Given the description of an element on the screen output the (x, y) to click on. 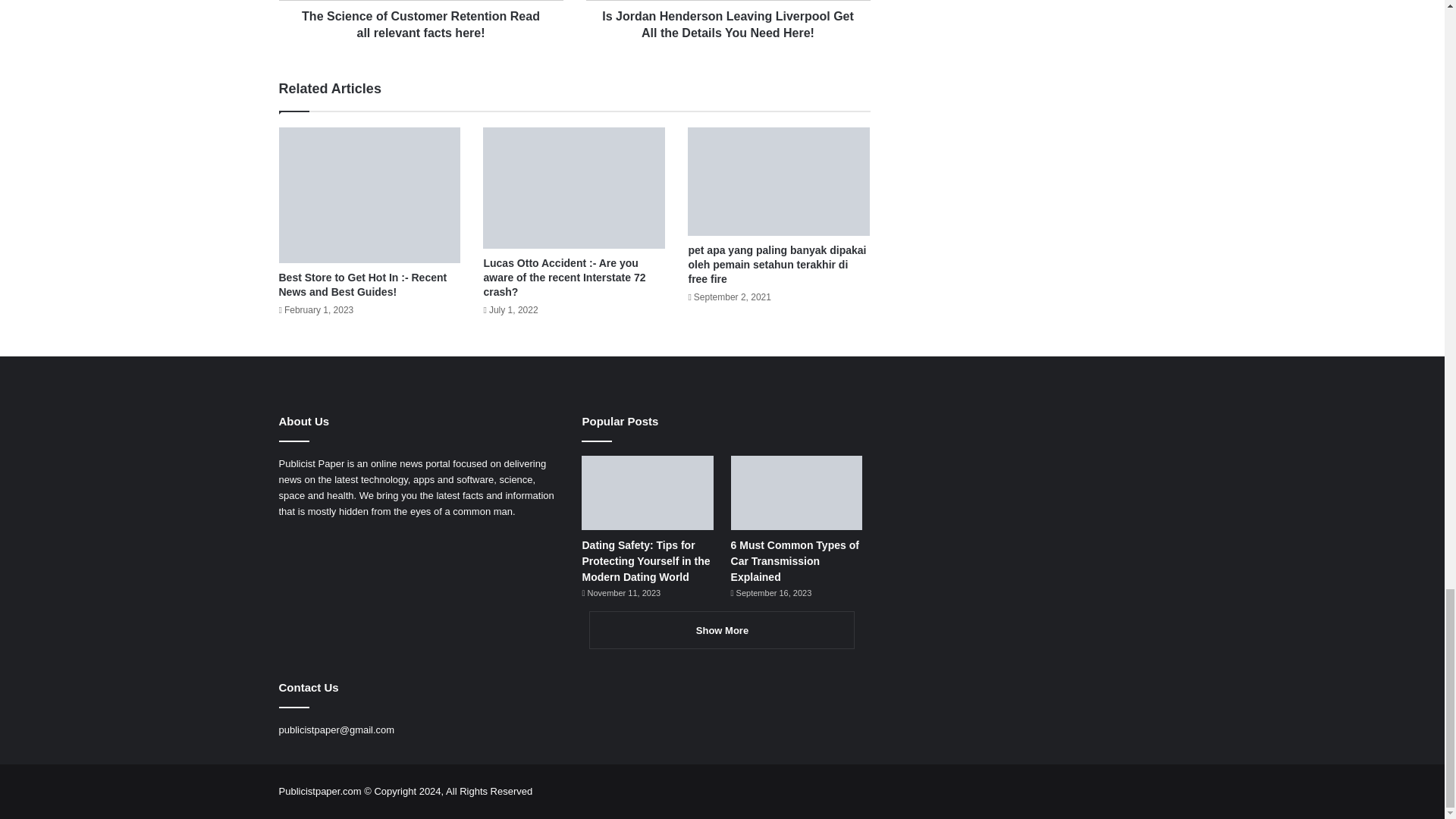
Best Store to Get Hot In :- Recent News and Best Guides! (362, 284)
